Given the description of an element on the screen output the (x, y) to click on. 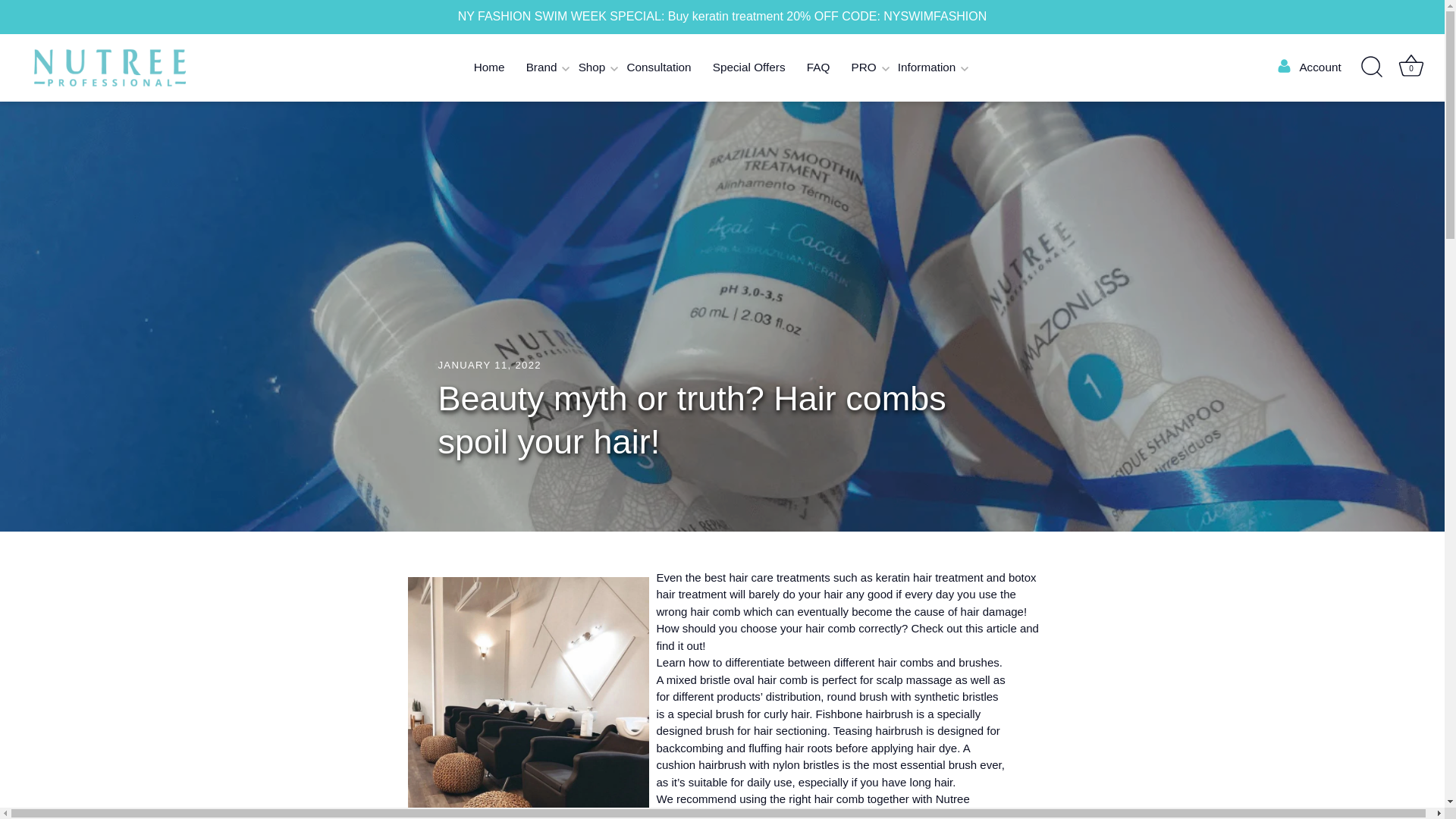
Home (488, 68)
Basket (1410, 65)
FAQ (818, 68)
Consultation (658, 68)
Brand (541, 68)
Shop (591, 68)
PRO (863, 68)
Special Offers (748, 68)
Information (926, 68)
